Given the description of an element on the screen output the (x, y) to click on. 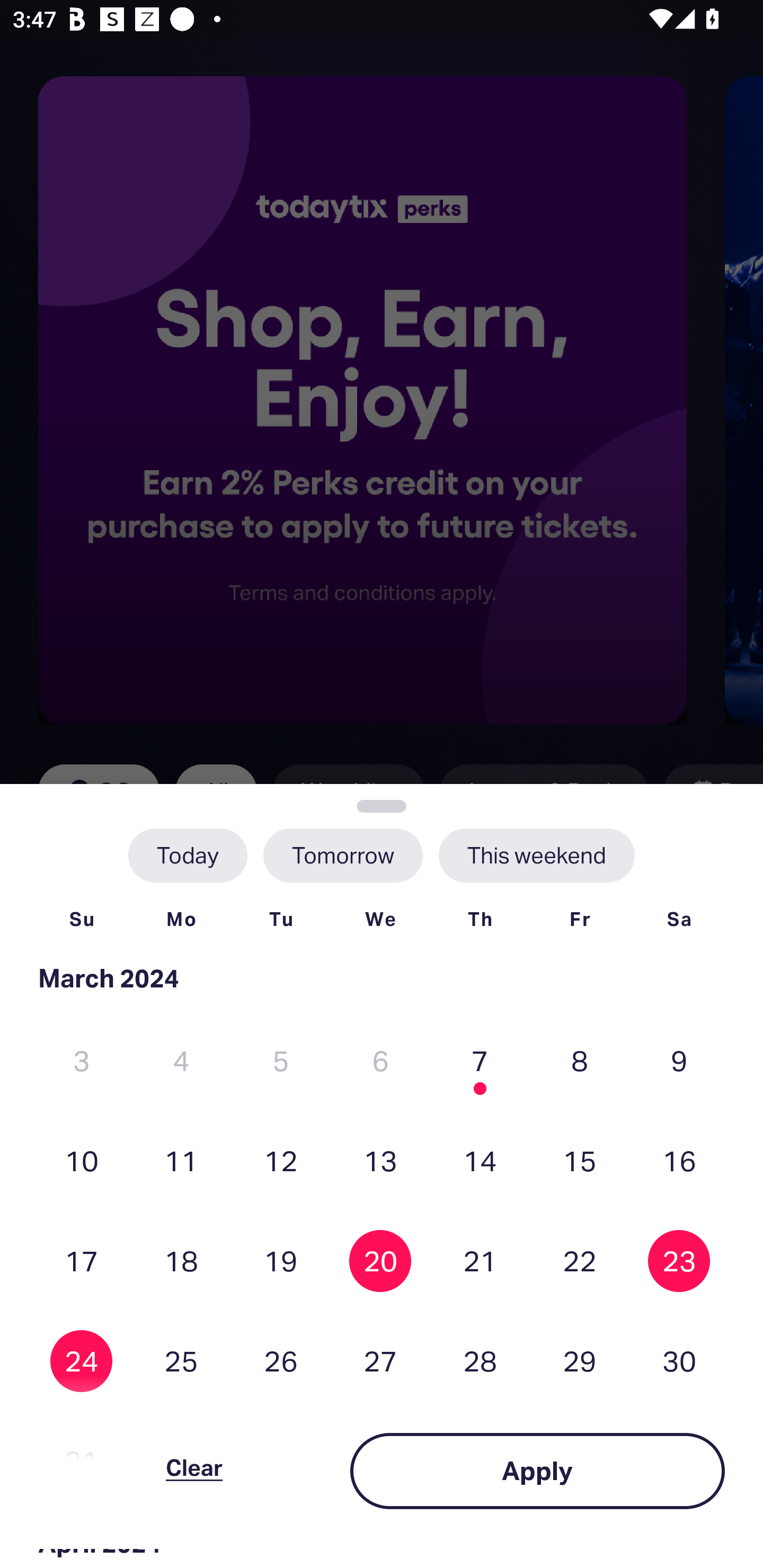
Today (187, 854)
Tomorrow (342, 854)
This weekend (536, 854)
3 (81, 1060)
4 (181, 1060)
5 (280, 1060)
6 (380, 1060)
7 (479, 1060)
8 (579, 1060)
9 (678, 1060)
10 (81, 1160)
11 (181, 1160)
12 (280, 1160)
13 (380, 1160)
14 (479, 1160)
15 (579, 1160)
16 (678, 1160)
17 (81, 1260)
18 (181, 1260)
19 (280, 1260)
20 (380, 1260)
21 (479, 1260)
22 (579, 1260)
23 (678, 1260)
24 (81, 1360)
25 (181, 1360)
26 (280, 1360)
27 (380, 1360)
28 (479, 1360)
29 (579, 1360)
30 (678, 1360)
Clear (194, 1470)
Apply (537, 1470)
